Given the description of an element on the screen output the (x, y) to click on. 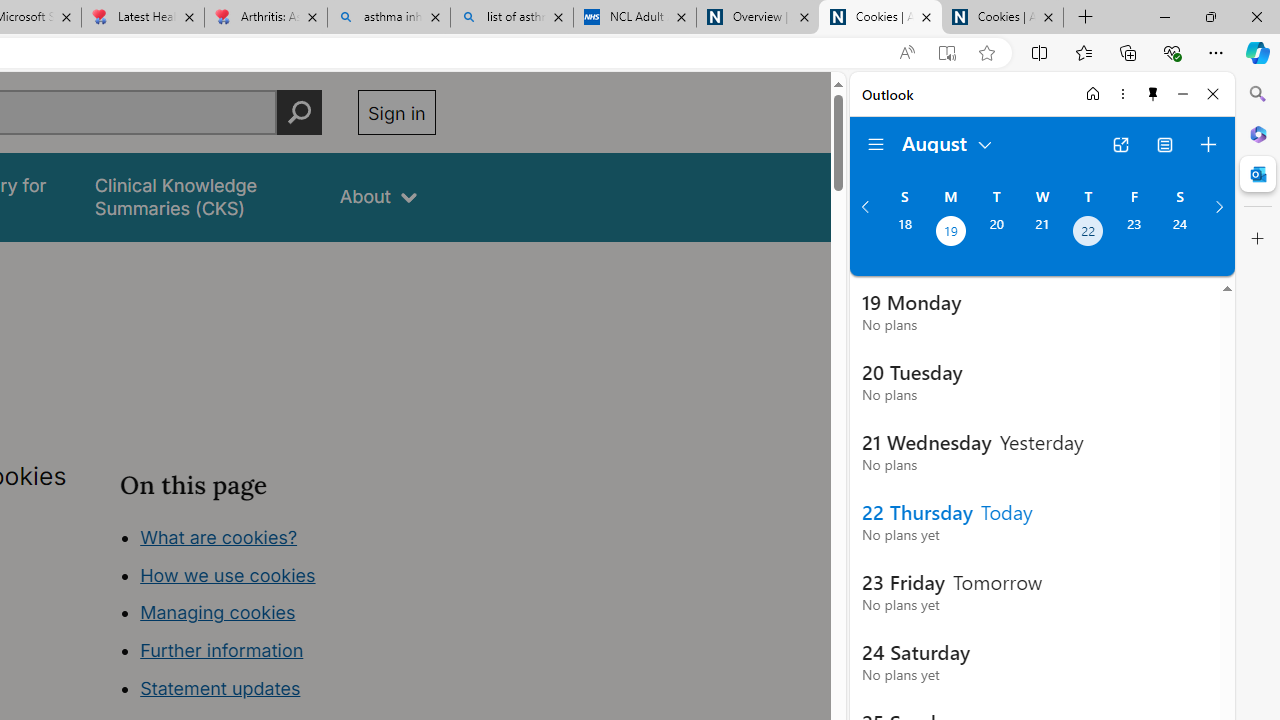
Statement updates (219, 688)
Perform search (299, 112)
Managing cookies (217, 612)
Thursday, August 22, 2024. Today.  (1088, 233)
Open in new tab (1120, 144)
